Given the description of an element on the screen output the (x, y) to click on. 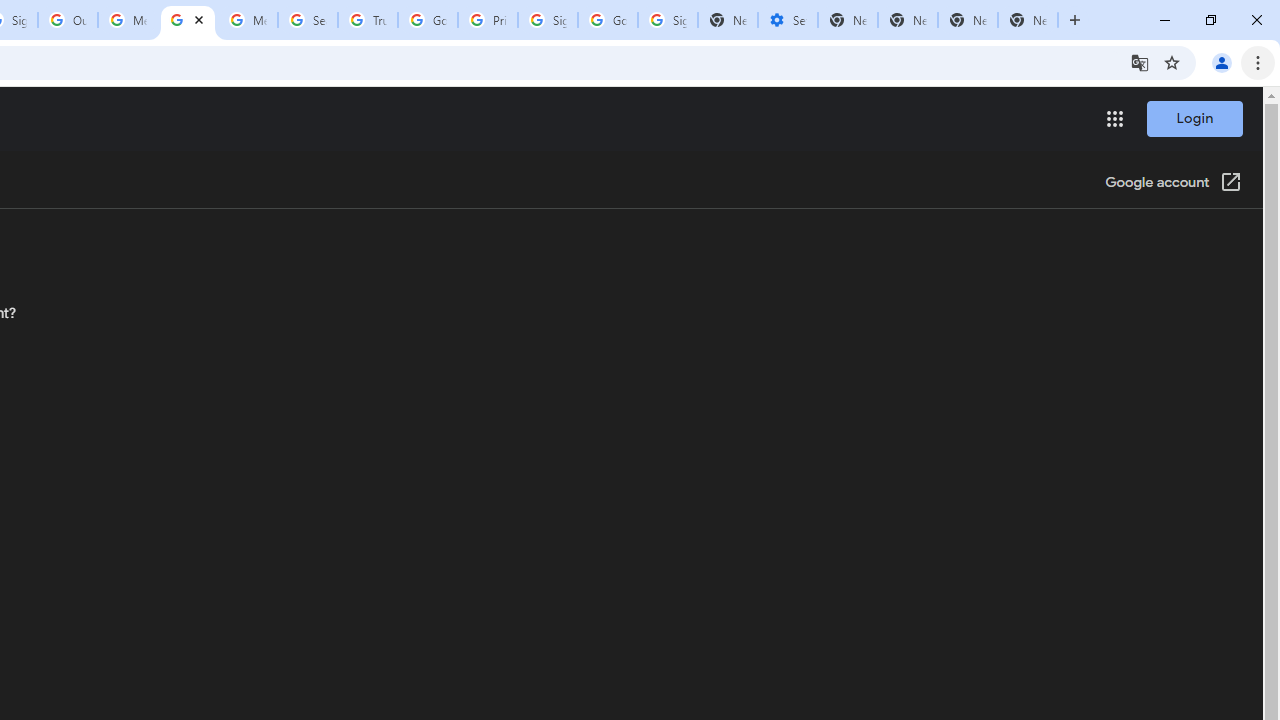
Turn cookies on or off - Computer - Google Account Help (187, 20)
Sign in - Google Accounts (667, 20)
Translate this page (1139, 62)
